Given the description of an element on the screen output the (x, y) to click on. 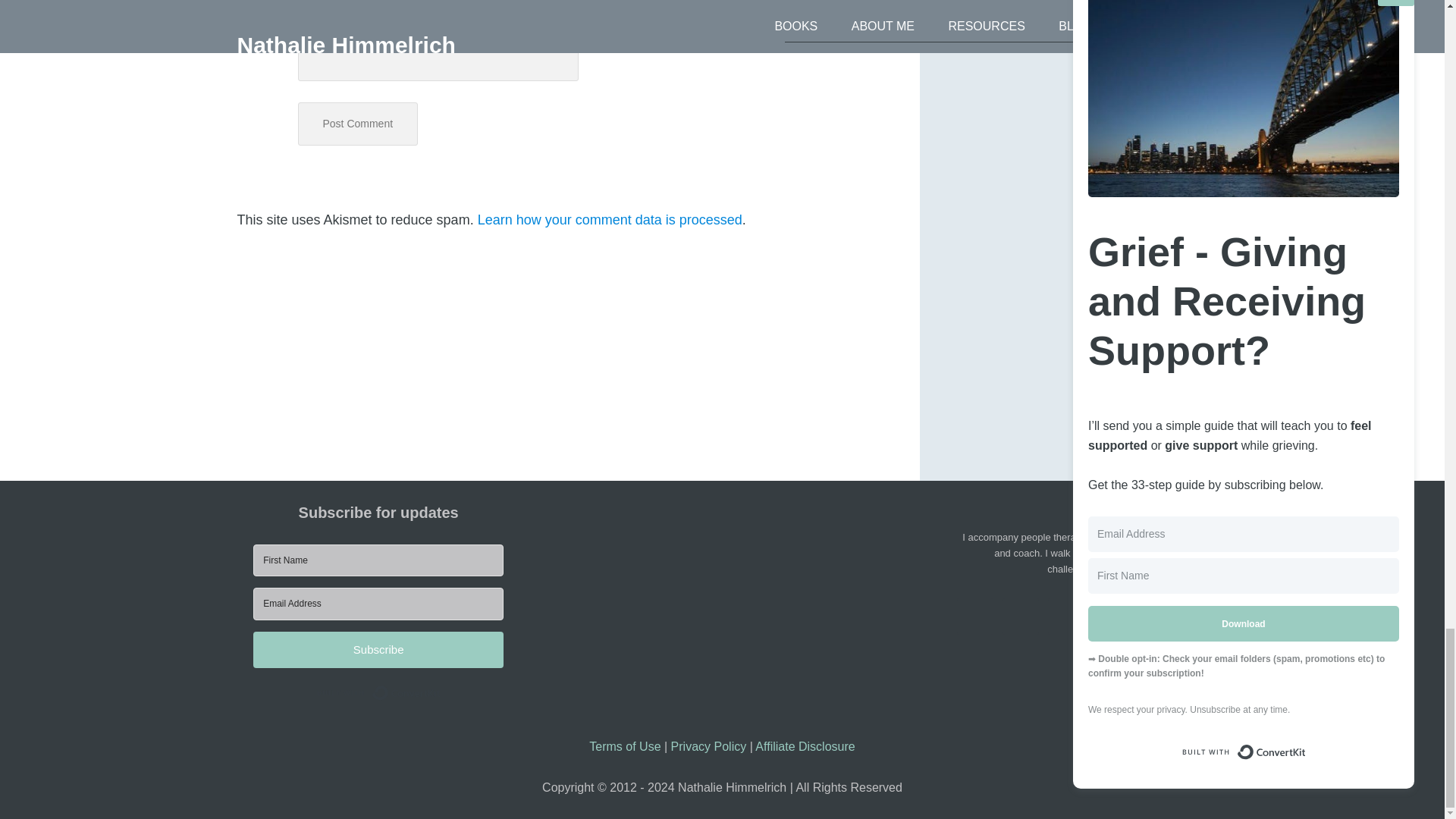
Post Comment (357, 123)
